Given the description of an element on the screen output the (x, y) to click on. 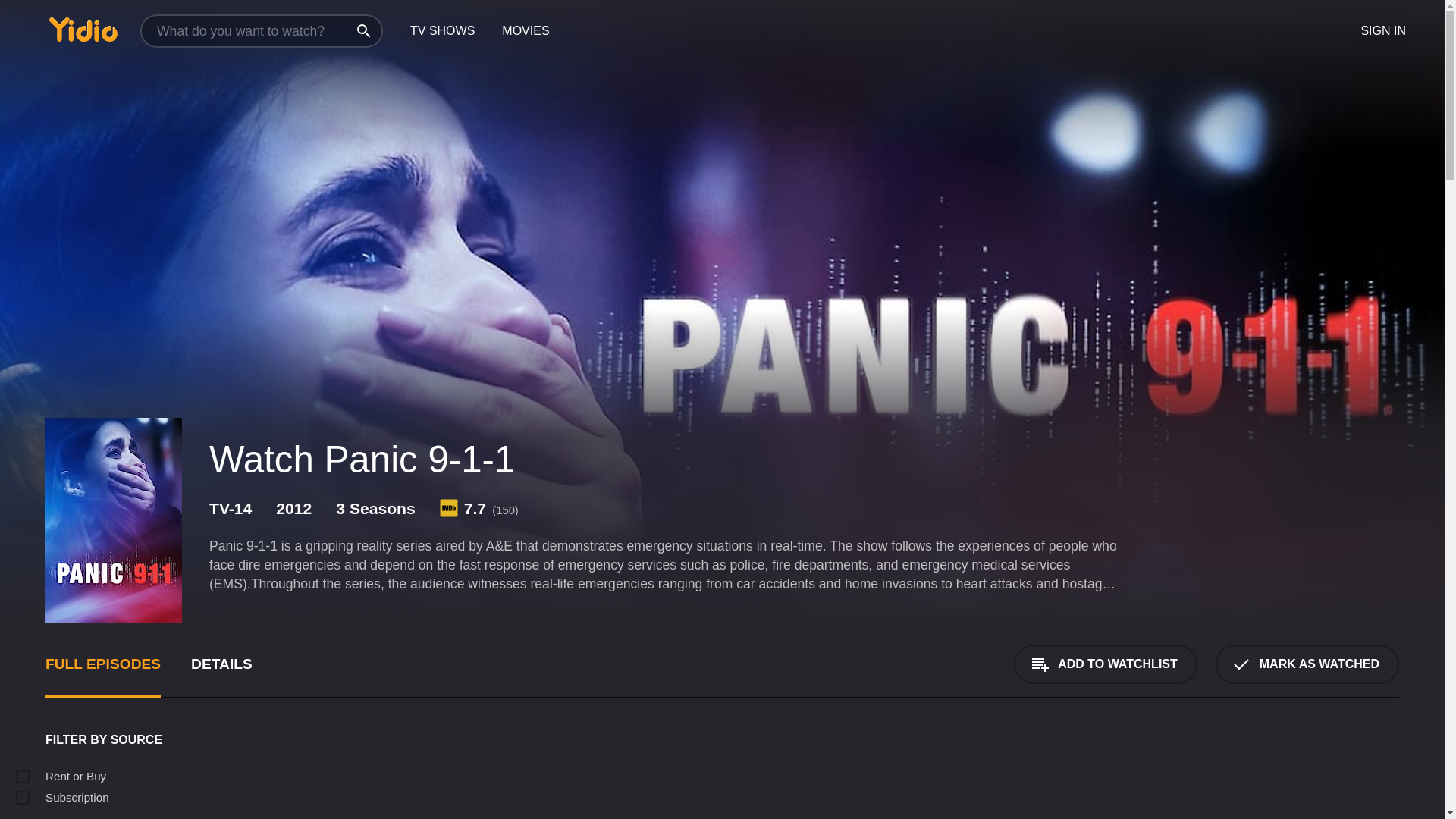
sub (22, 797)
pay (22, 775)
Advertisement (1302, 776)
Advertisement (698, 776)
Yidio (82, 29)
TV SHOWS (441, 31)
MARK AS WATCHED (1307, 663)
ADD TO WATCHLIST (1104, 663)
MOVIES (524, 31)
